Given the description of an element on the screen output the (x, y) to click on. 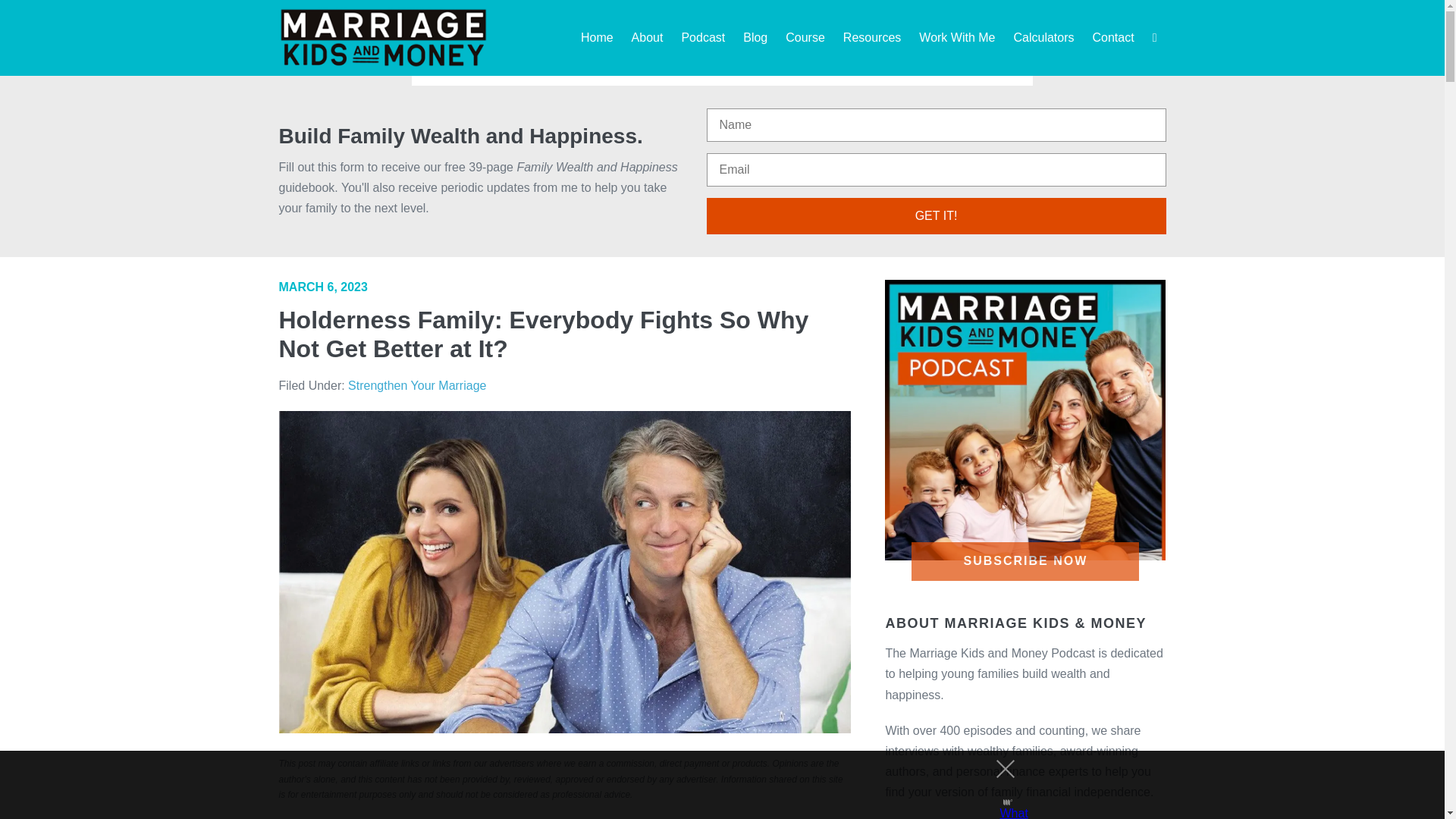
Course (804, 37)
Calculators (1042, 37)
Contact (1113, 37)
About (647, 37)
Blog (755, 37)
MKMPodcastArt 2020 800x800 (1025, 420)
Resources (871, 37)
logo (383, 37)
Home (596, 37)
Work With Me (957, 37)
Podcast (702, 37)
